Given the description of an element on the screen output the (x, y) to click on. 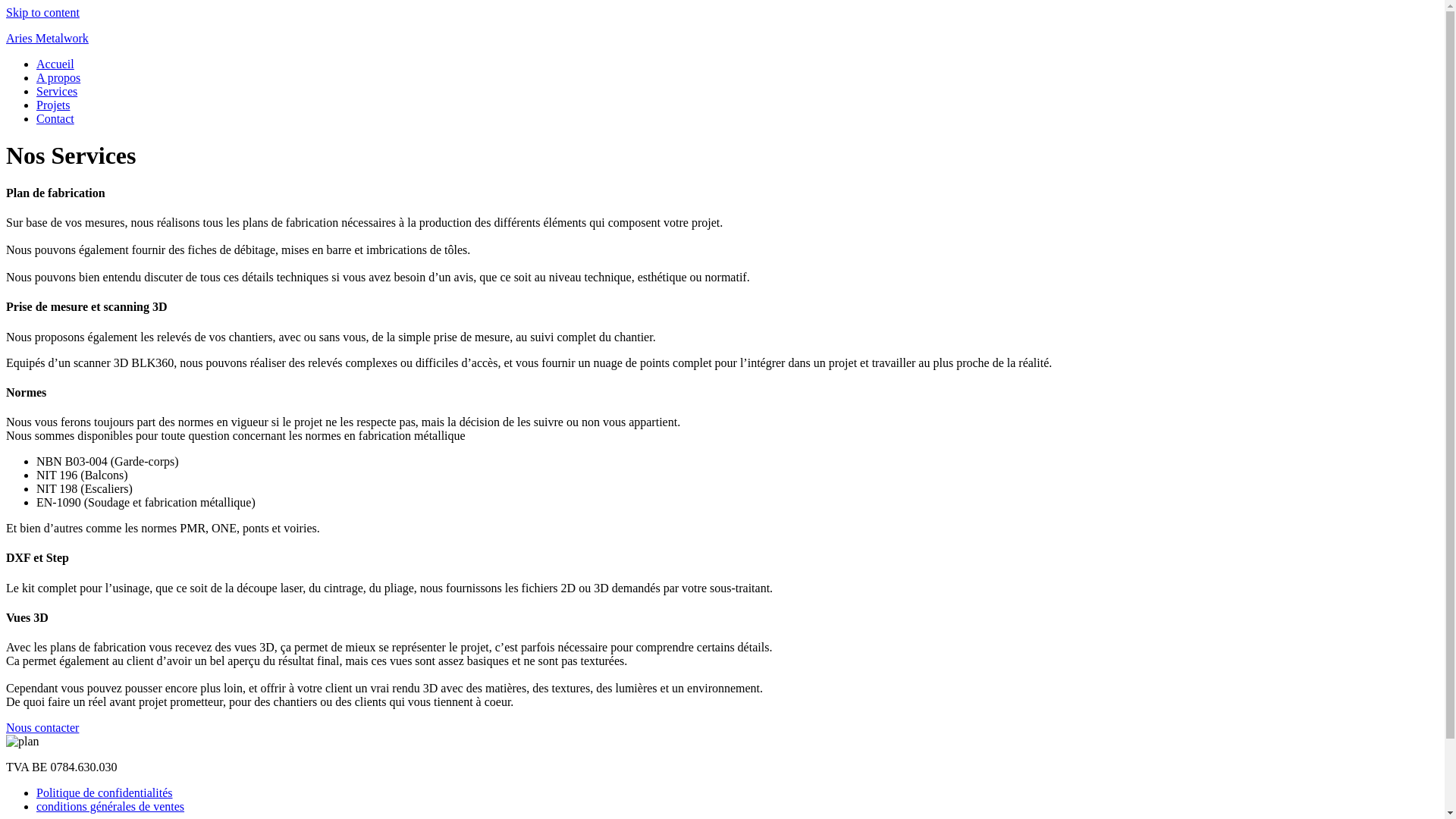
Services Element type: text (56, 90)
Accueil Element type: text (55, 63)
Skip to content Element type: text (42, 12)
Projets Element type: text (52, 104)
Nous contacter Element type: text (42, 727)
A propos Element type: text (58, 77)
Aries Metalwork Element type: text (47, 37)
Contact Element type: text (55, 118)
